Given the description of an element on the screen output the (x, y) to click on. 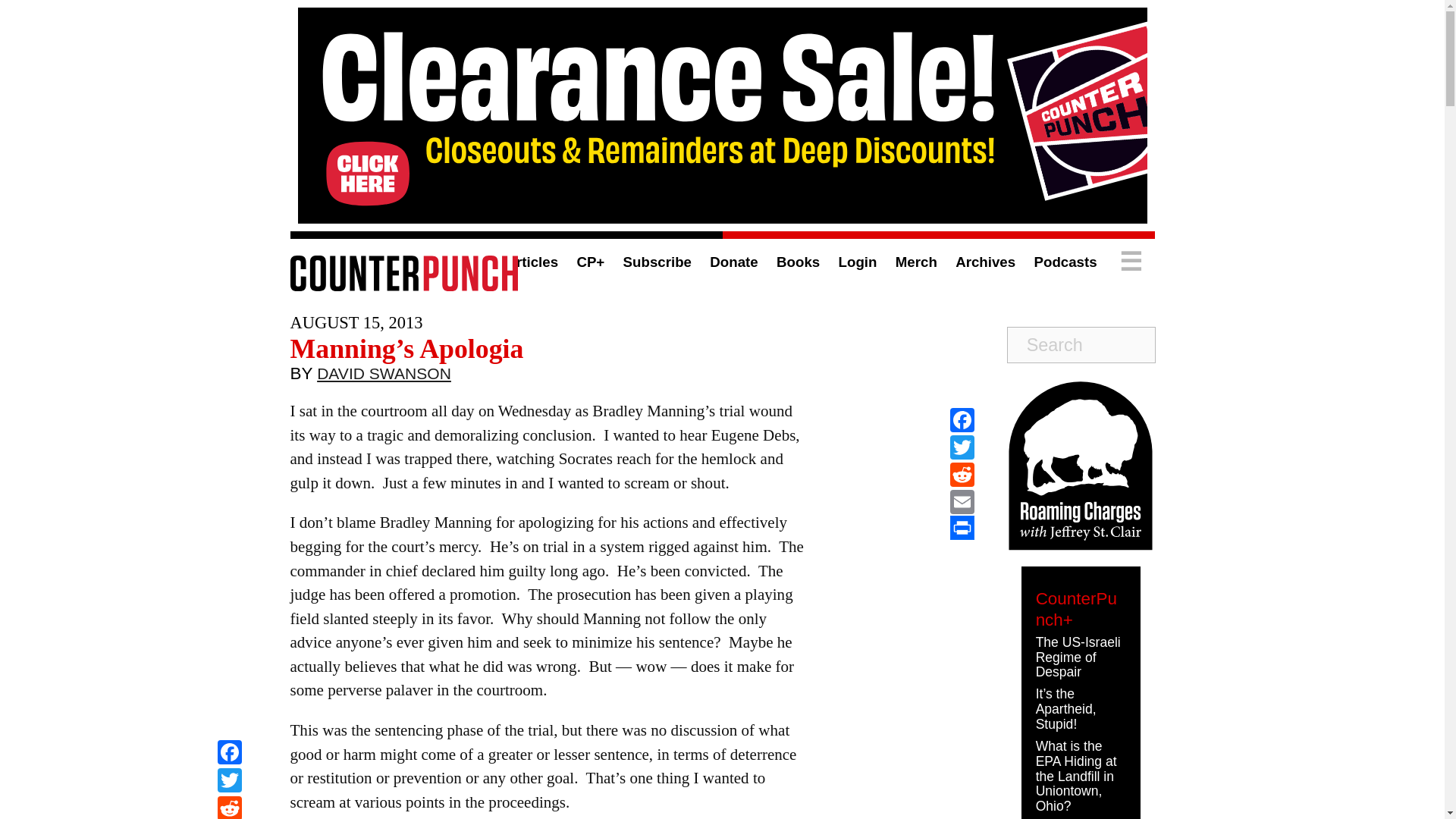
Facebook (962, 420)
Archives (984, 261)
Reddit (229, 807)
Print This Post (962, 527)
Facebook (229, 754)
Subscribe (657, 261)
Podcasts (1064, 261)
Reddit (229, 807)
Reddit (962, 474)
Login (857, 261)
Facebook (229, 754)
Email (962, 501)
Twitter (229, 782)
Books (797, 261)
Merch (916, 261)
